Given the description of an element on the screen output the (x, y) to click on. 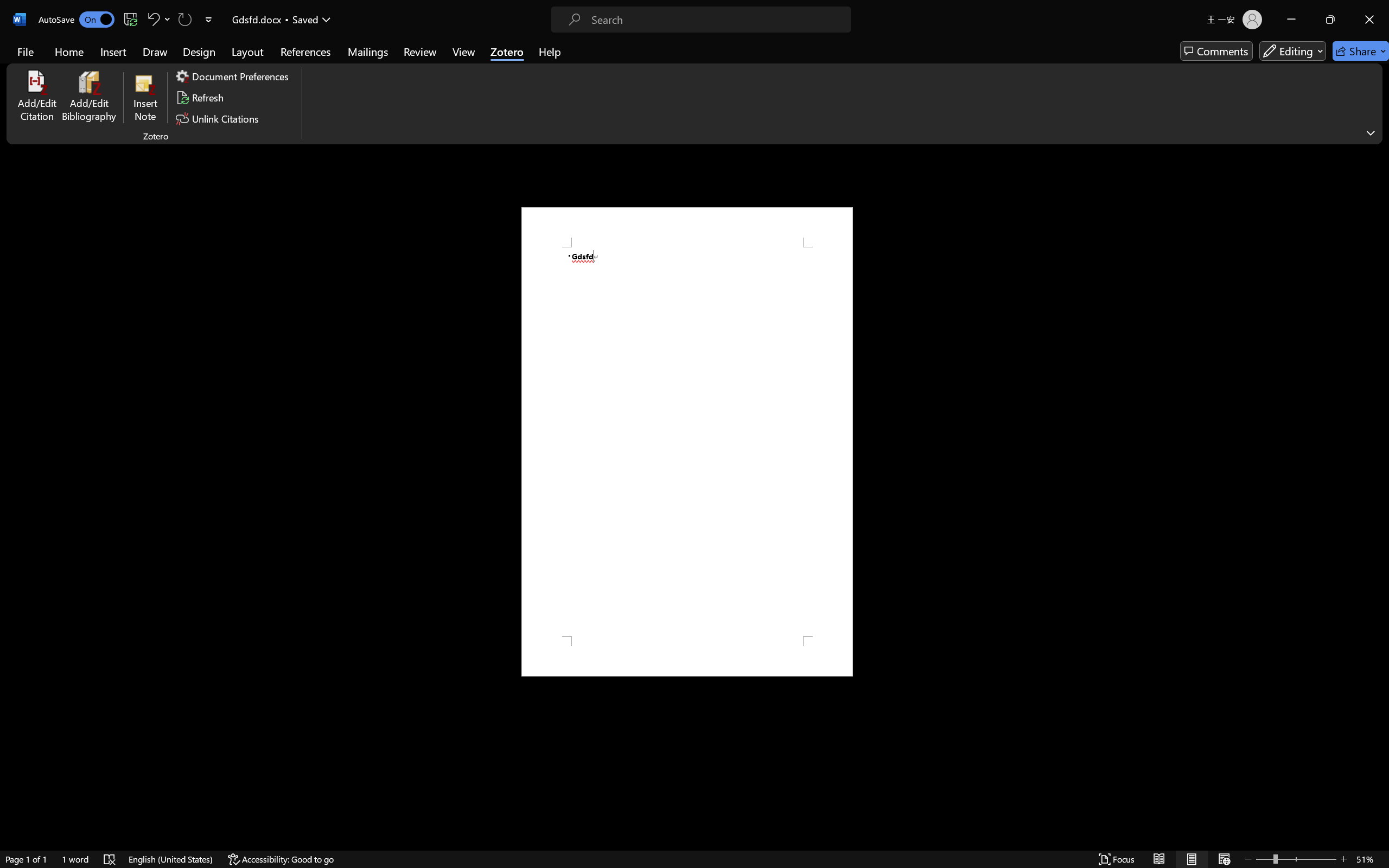
Page 1 content (686, 441)
